Given the description of an element on the screen output the (x, y) to click on. 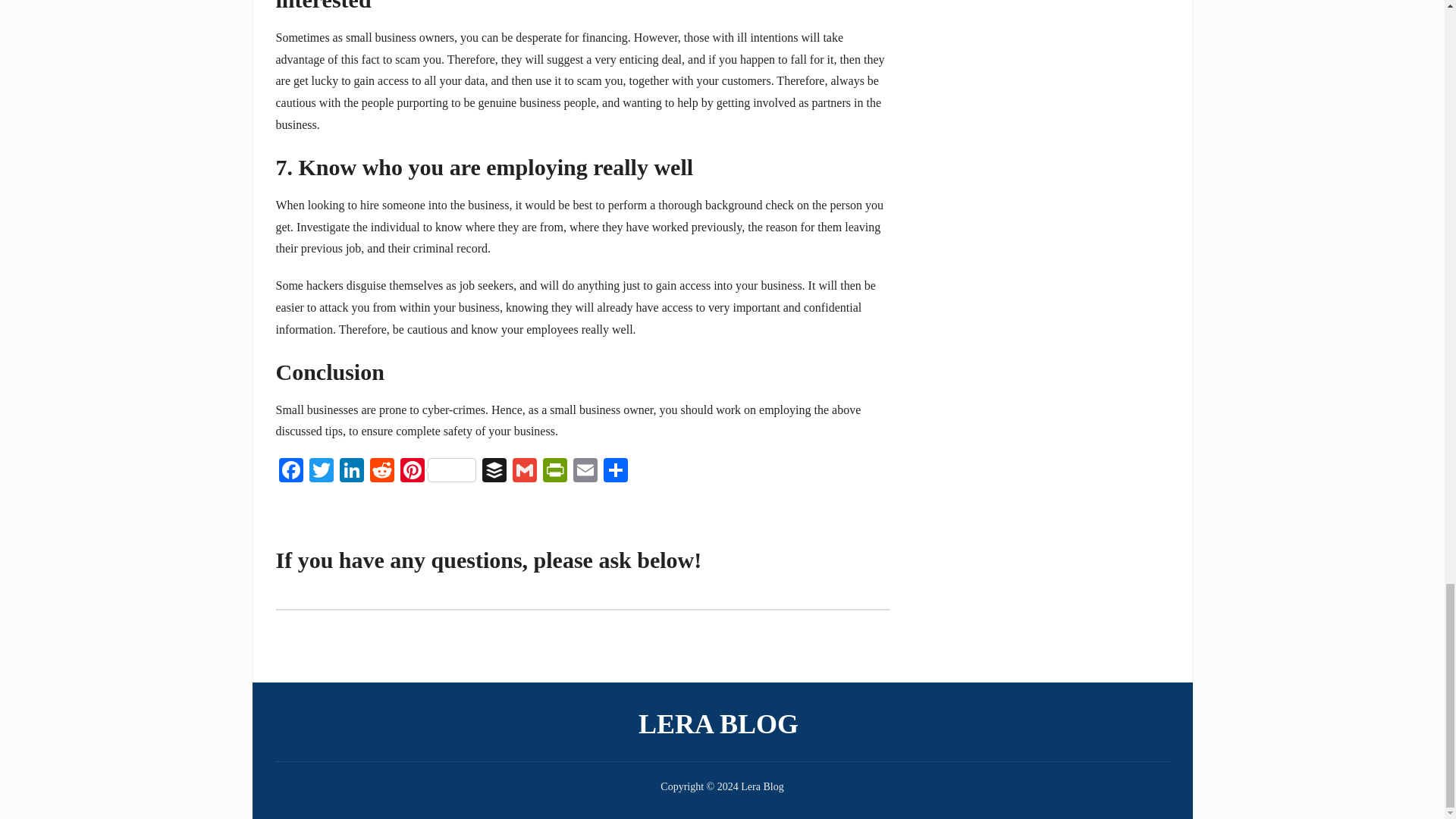
LinkedIn (351, 471)
Twitter (320, 471)
Facebook (290, 471)
Gmail (524, 471)
Pinterest (438, 471)
Buffer (494, 471)
Reddit (381, 471)
